Given the description of an element on the screen output the (x, y) to click on. 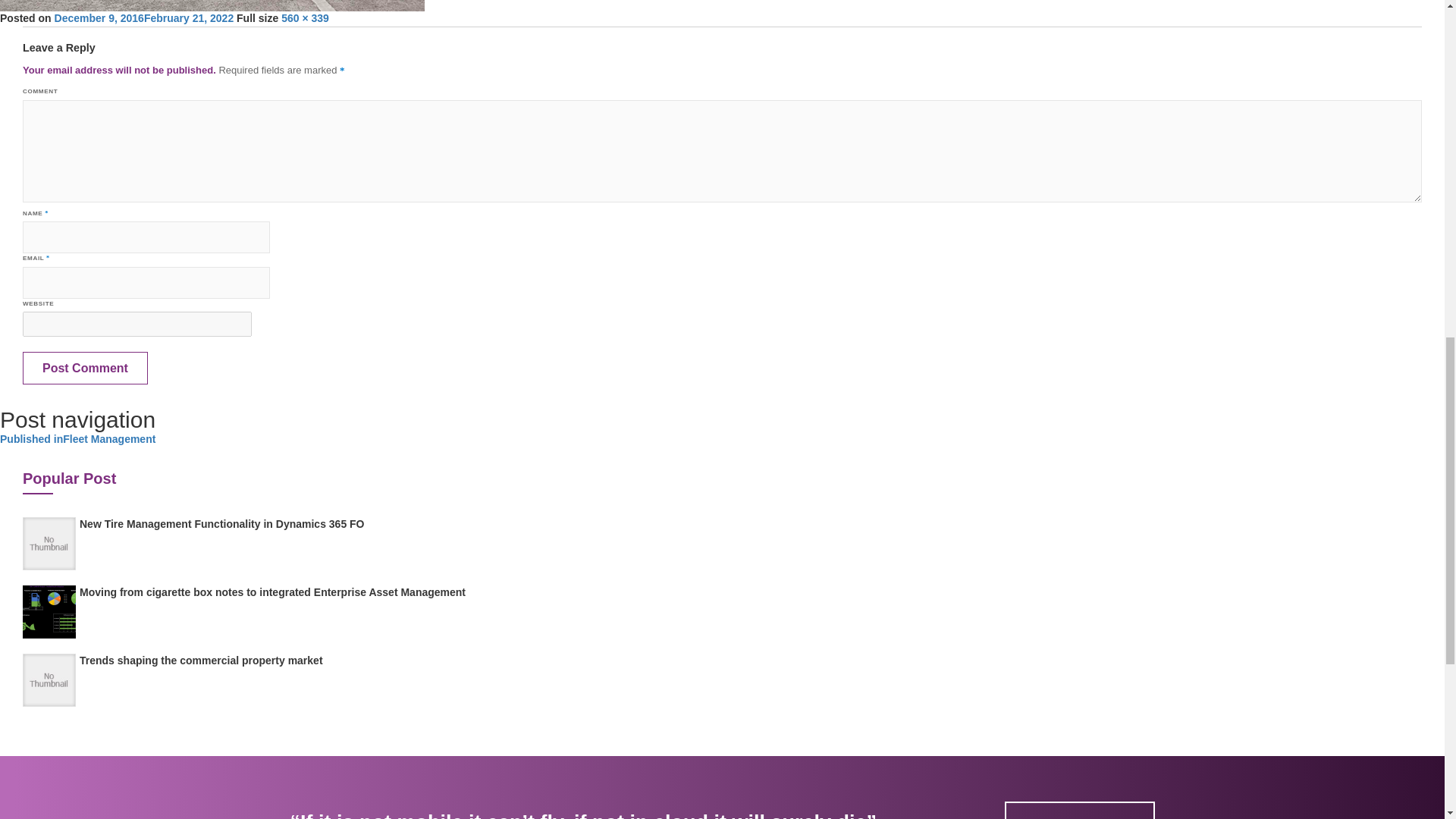
New Tire Management Functionality in Dynamics 365 FO (222, 523)
Post Comment (85, 368)
Trends shaping the commercial property market (201, 660)
